Given the description of an element on the screen output the (x, y) to click on. 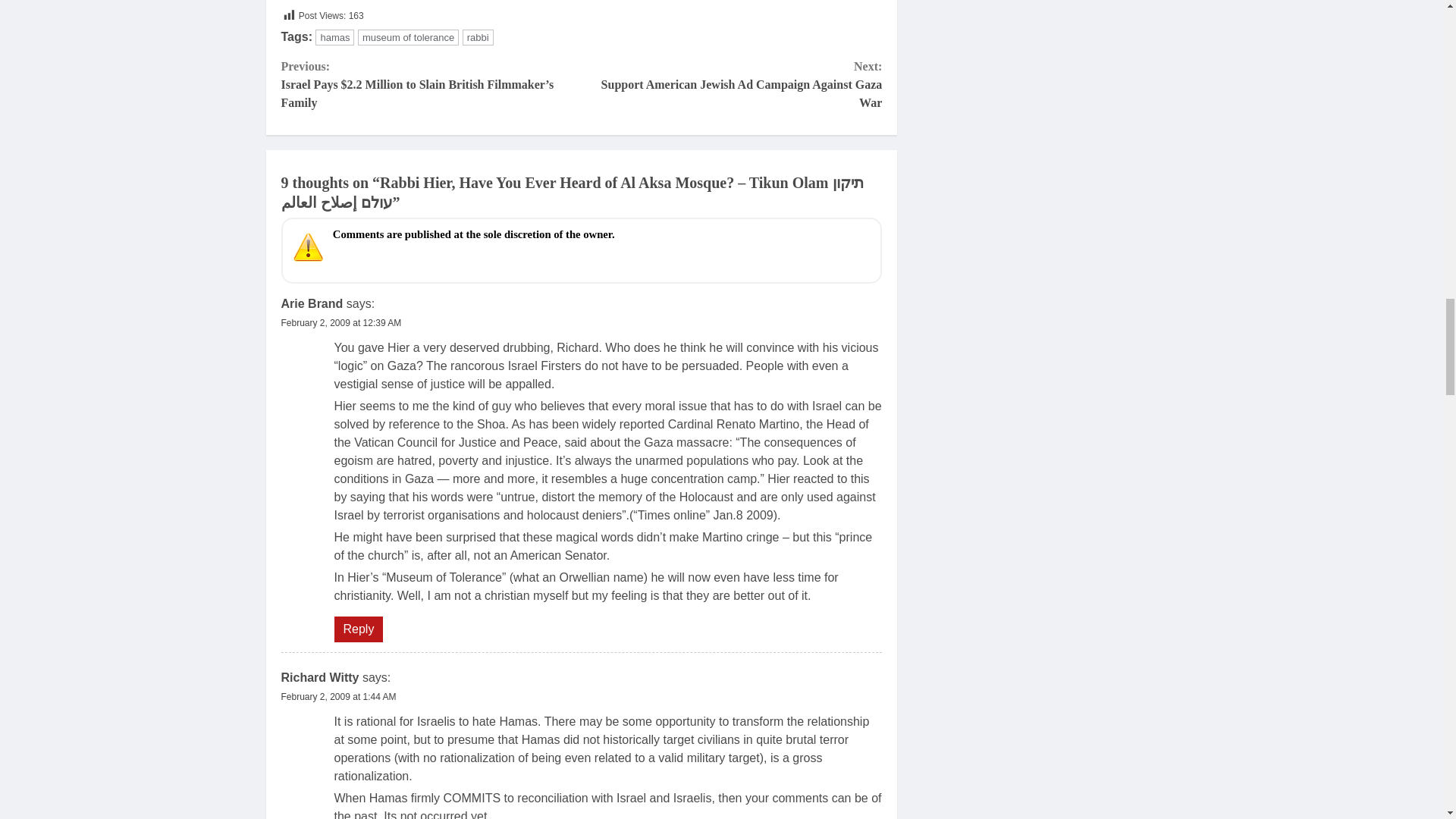
rabbi (478, 37)
museum of tolerance (408, 37)
Reply (731, 84)
February 2, 2009 at 12:39 AM (357, 629)
February 2, 2009 at 1:44 AM (341, 322)
hamas (338, 696)
